Given the description of an element on the screen output the (x, y) to click on. 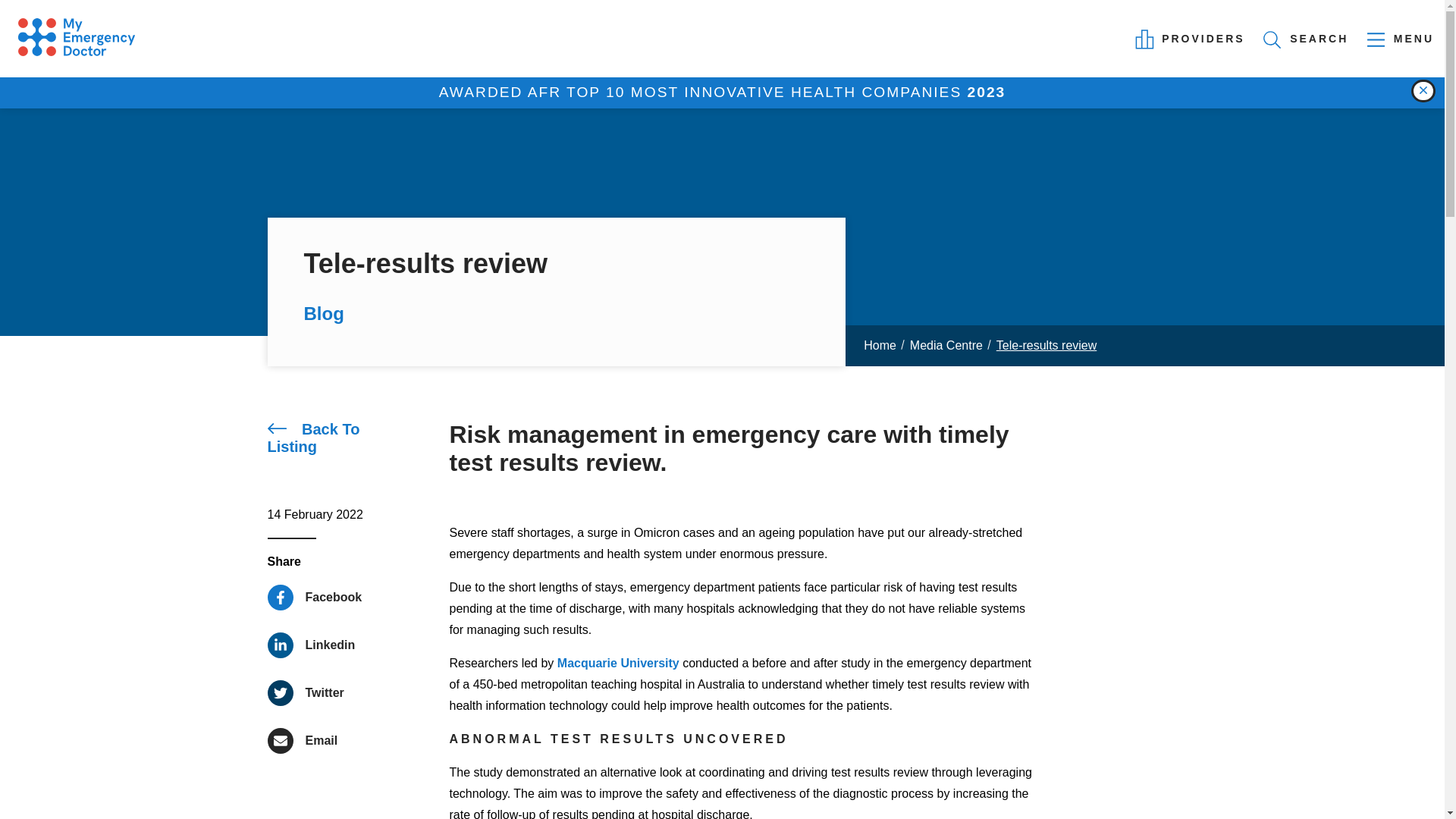
MENU (1401, 38)
Tele-results review (1045, 345)
PROVIDERS (1190, 38)
CLOSE THIS ALERT (304, 692)
SEARCH (1422, 90)
Back to Media Centre (1307, 38)
Back To Listing (334, 437)
Media Centre (334, 437)
